Given the description of an element on the screen output the (x, y) to click on. 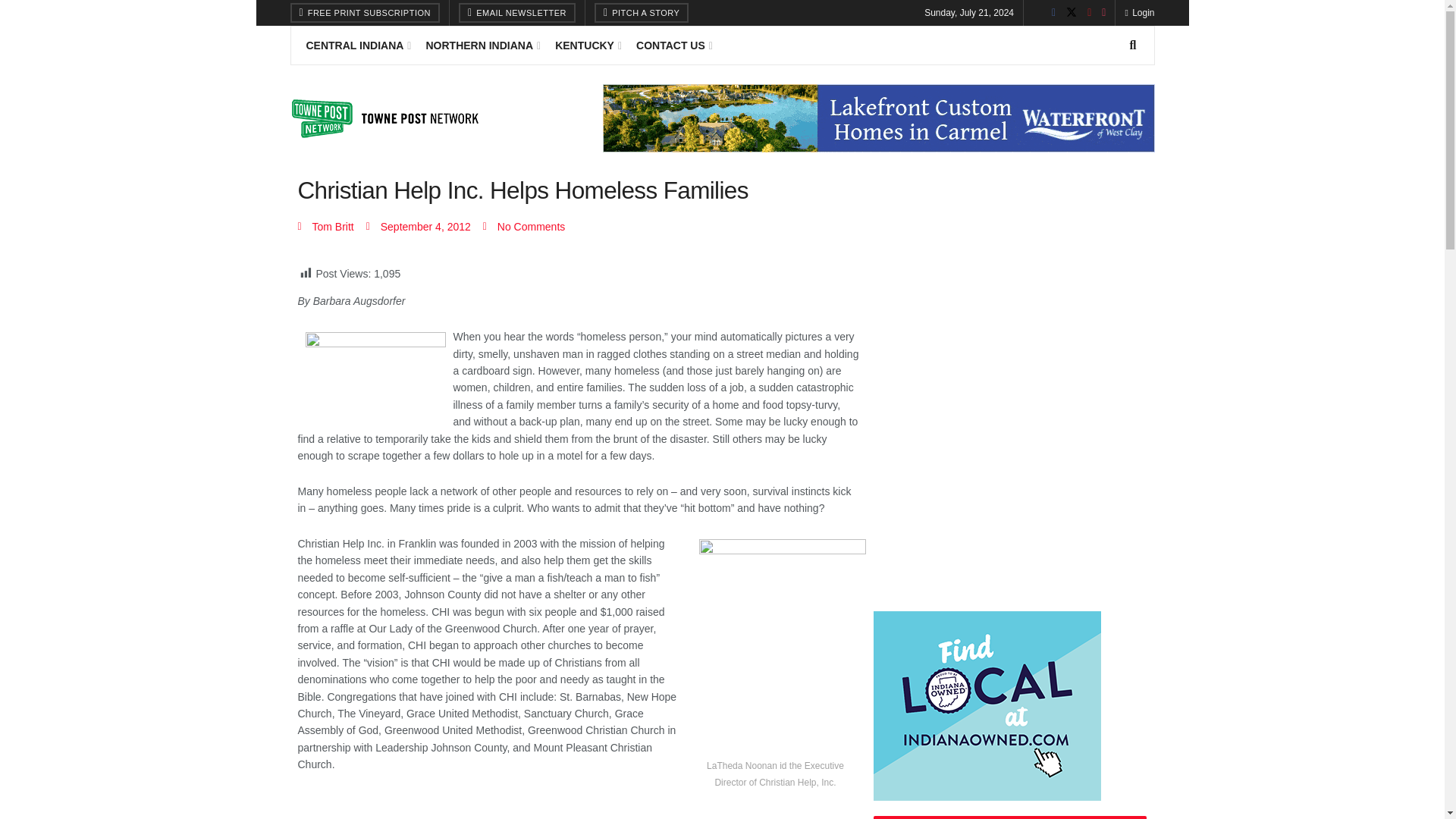
Christian-Help-Logo (374, 370)
Waterfront of West Clay (878, 118)
Login (1139, 12)
CENTRAL INDIANA (357, 45)
PITCH A STORY (641, 12)
EMAIL NEWSLETTER (516, 12)
CONTACT US (673, 45)
KENTUCKY (587, 45)
FREE PRINT SUBSCRIPTION (364, 12)
Indiana Originals (986, 705)
NORTHERN INDIANA (481, 45)
